Given the description of an element on the screen output the (x, y) to click on. 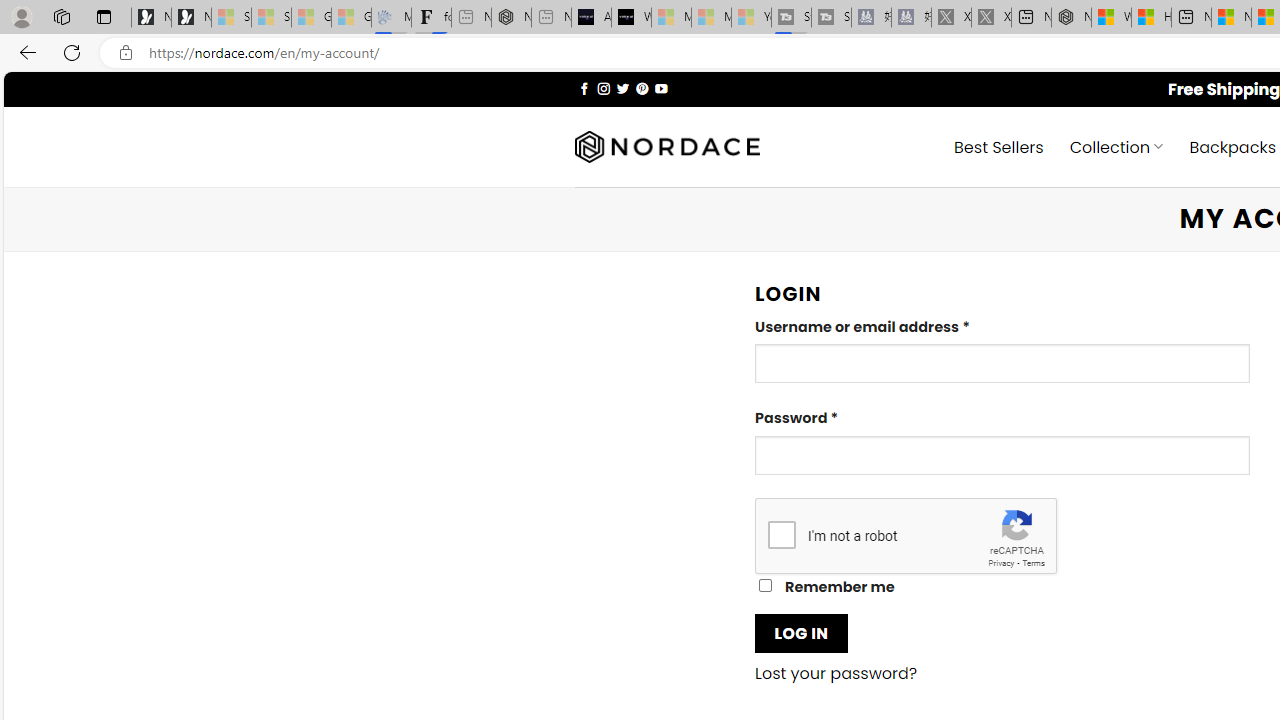
Lost your password? (836, 673)
